Given the description of an element on the screen output the (x, y) to click on. 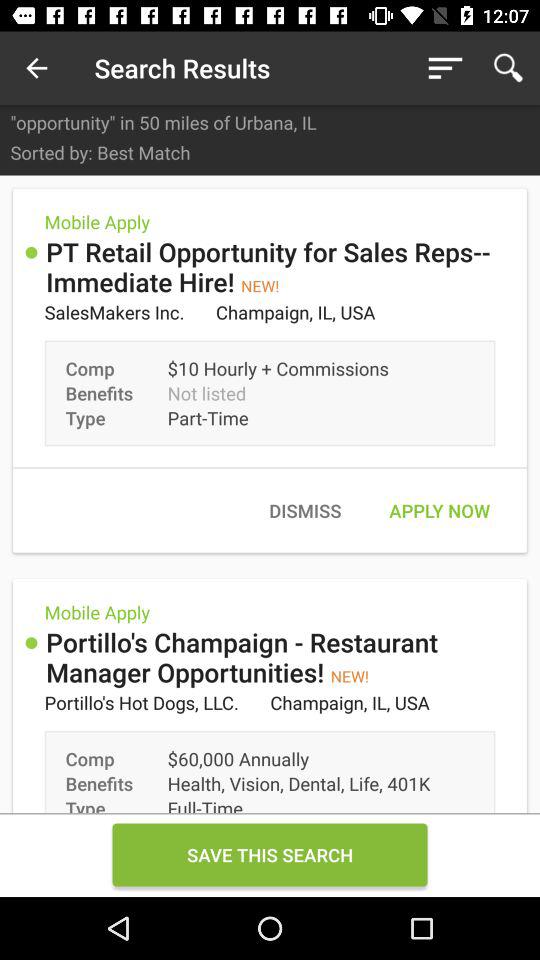
turn off the icon to the left of the search results (36, 68)
